Given the description of an element on the screen output the (x, y) to click on. 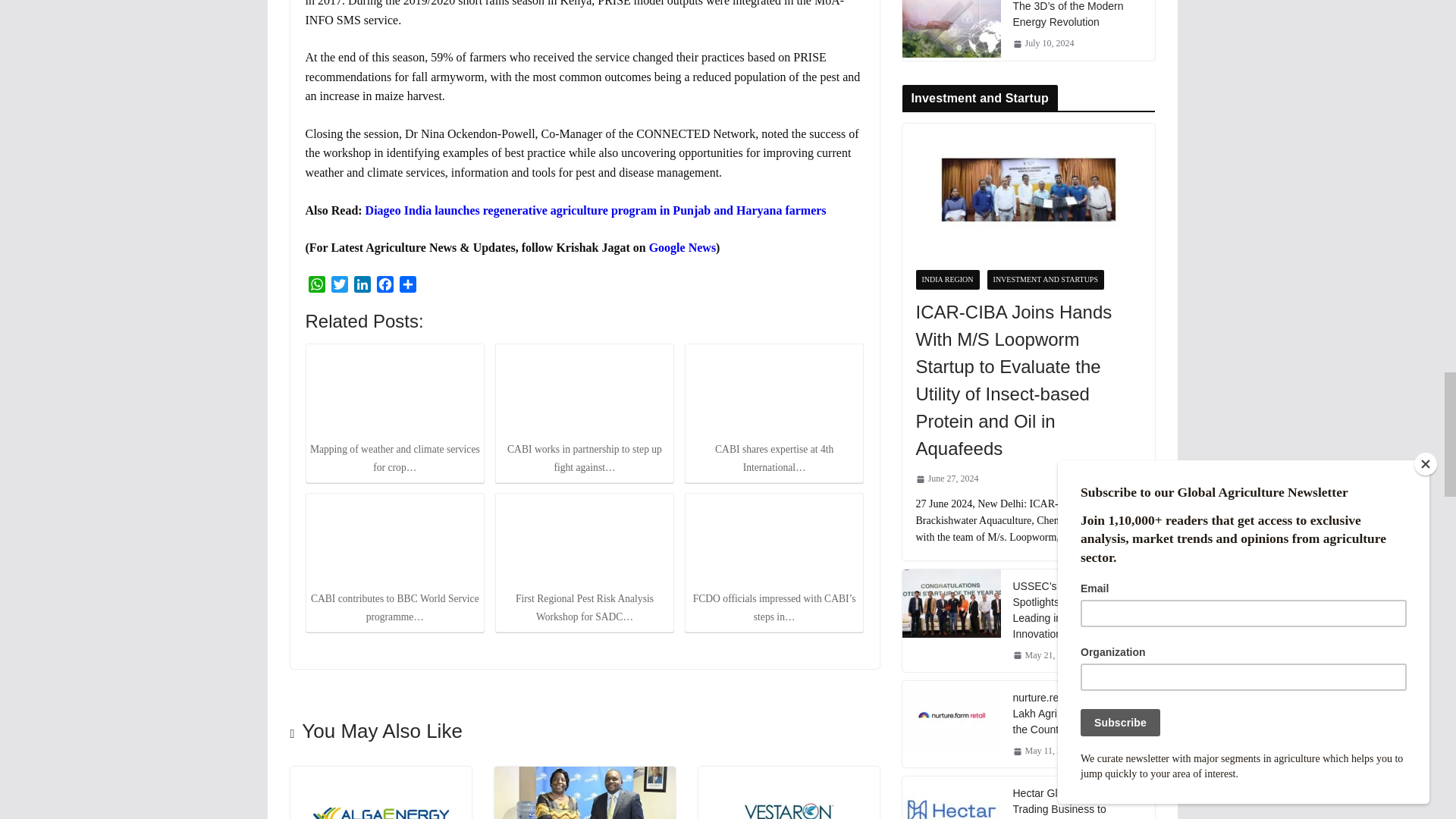
WhatsApp (315, 286)
LinkedIn (361, 286)
Twitter (338, 286)
Facebook (384, 286)
